Given the description of an element on the screen output the (x, y) to click on. 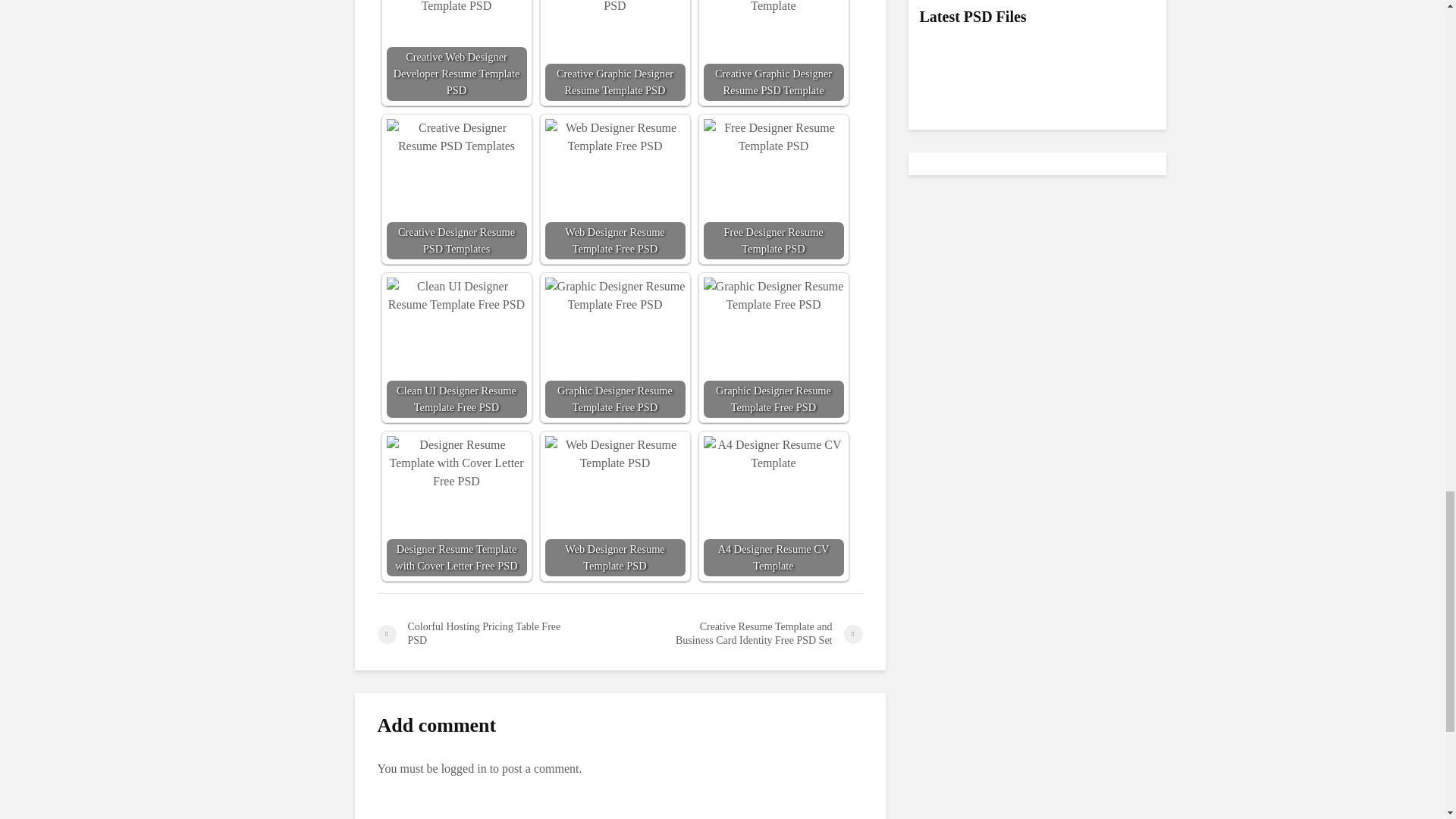
Creative Graphic Designer Resume PSD Template (773, 7)
Creative Web Designer Developer Resume Template PSD (457, 7)
Creative Graphic Designer Resume Template PSD (614, 7)
Creative Designer Resume PSD Templates (457, 136)
